Given the description of an element on the screen output the (x, y) to click on. 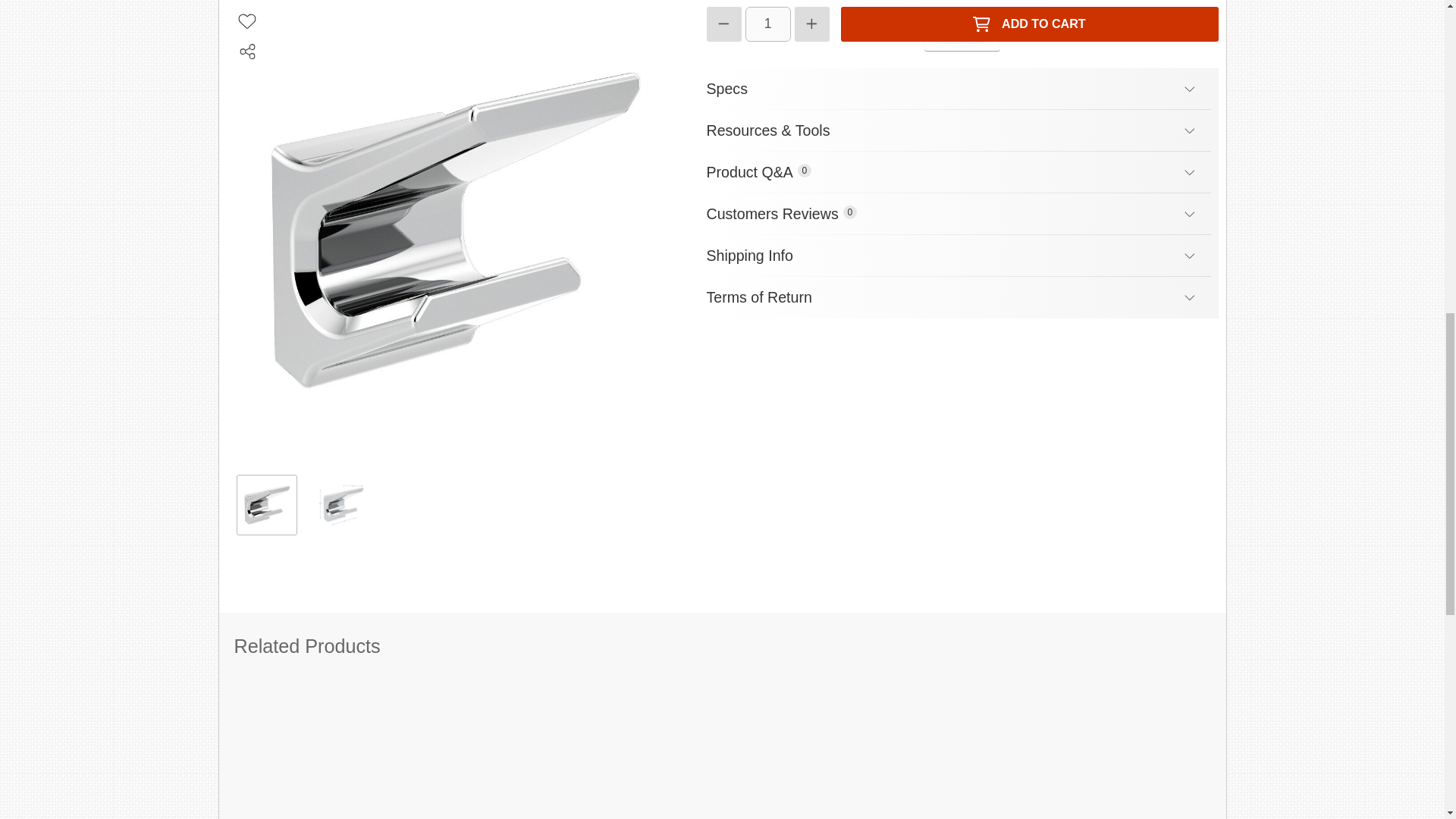
Terms of Return (962, 214)
Shipping Info (962, 297)
Read More (962, 255)
Specs (962, 41)
